Given the description of an element on the screen output the (x, y) to click on. 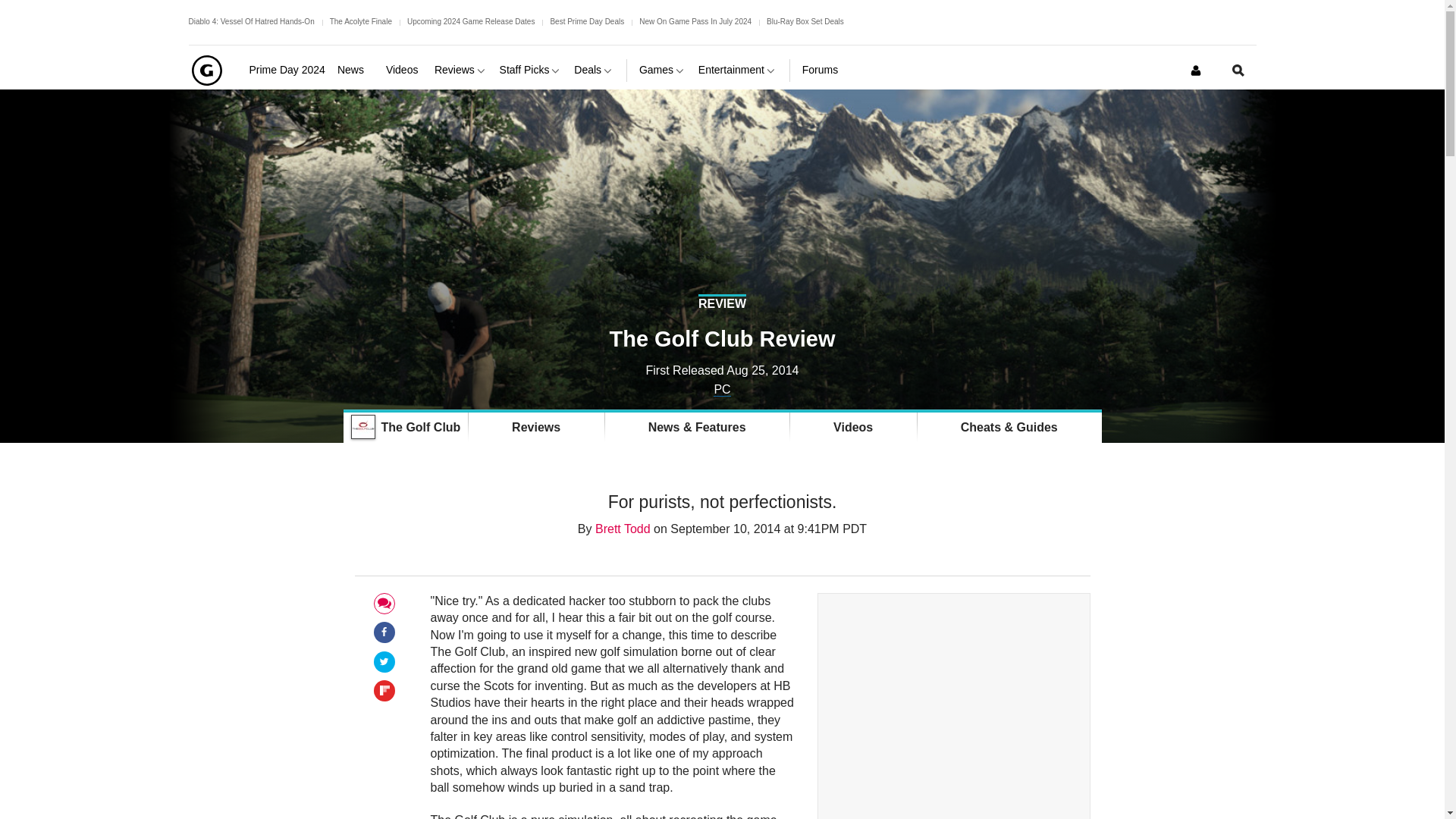
The Acolyte Finale (360, 21)
Upcoming 2024 Game Release Dates (470, 21)
Facebook (384, 632)
New On Game Pass In July 2024 (695, 21)
Diablo 4: Vessel Of Hatred Hands-On (250, 21)
Staff Picks (530, 70)
Prime Day 2024 (286, 70)
GameSpot (205, 70)
Comment (384, 604)
News (355, 70)
Blu-Ray Box Set Deals (805, 21)
Games (662, 70)
Videos (403, 70)
Best Prime Day Deals (587, 21)
